Given the description of an element on the screen output the (x, y) to click on. 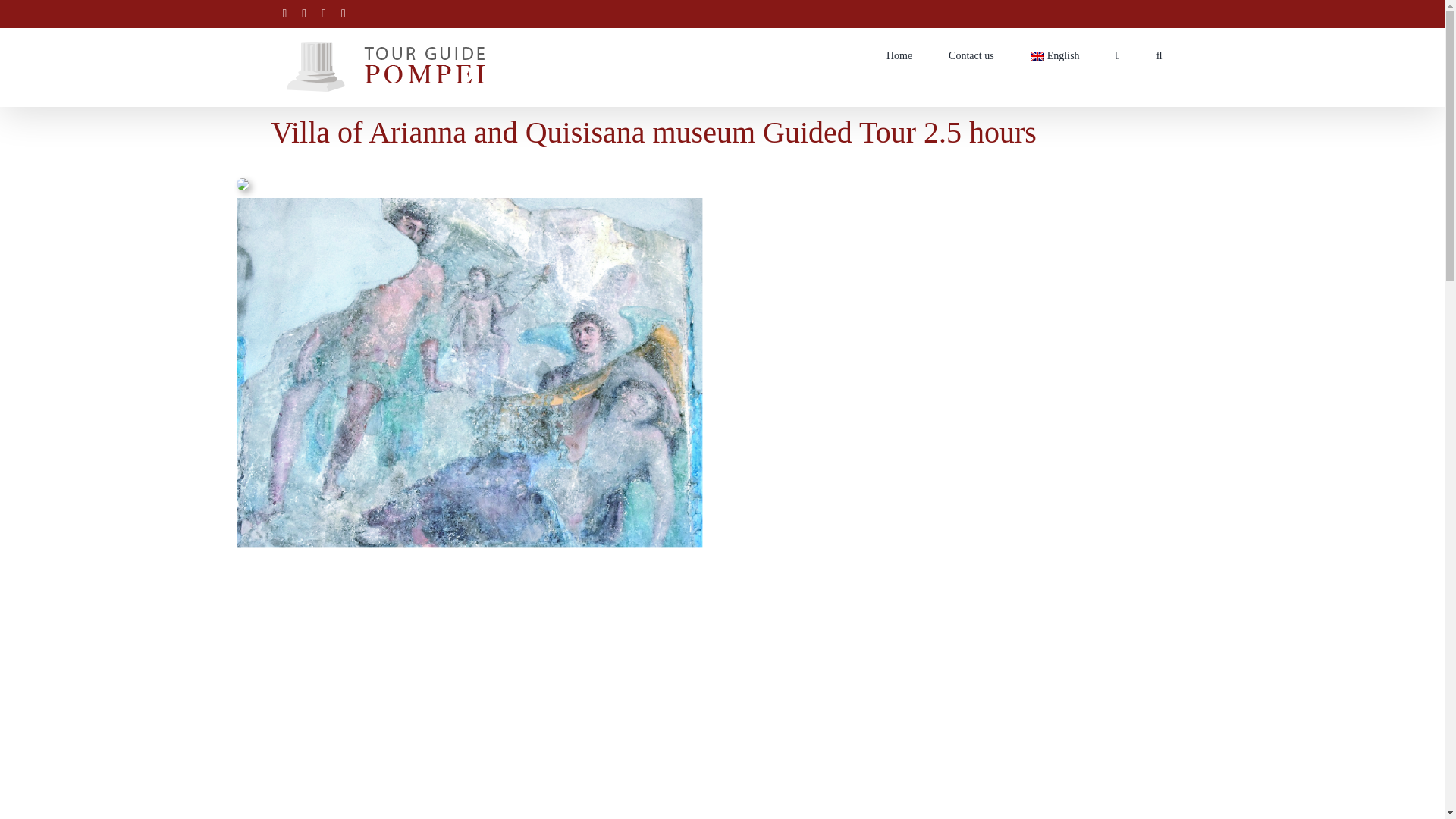
English (1055, 55)
English (1055, 55)
